Given the description of an element on the screen output the (x, y) to click on. 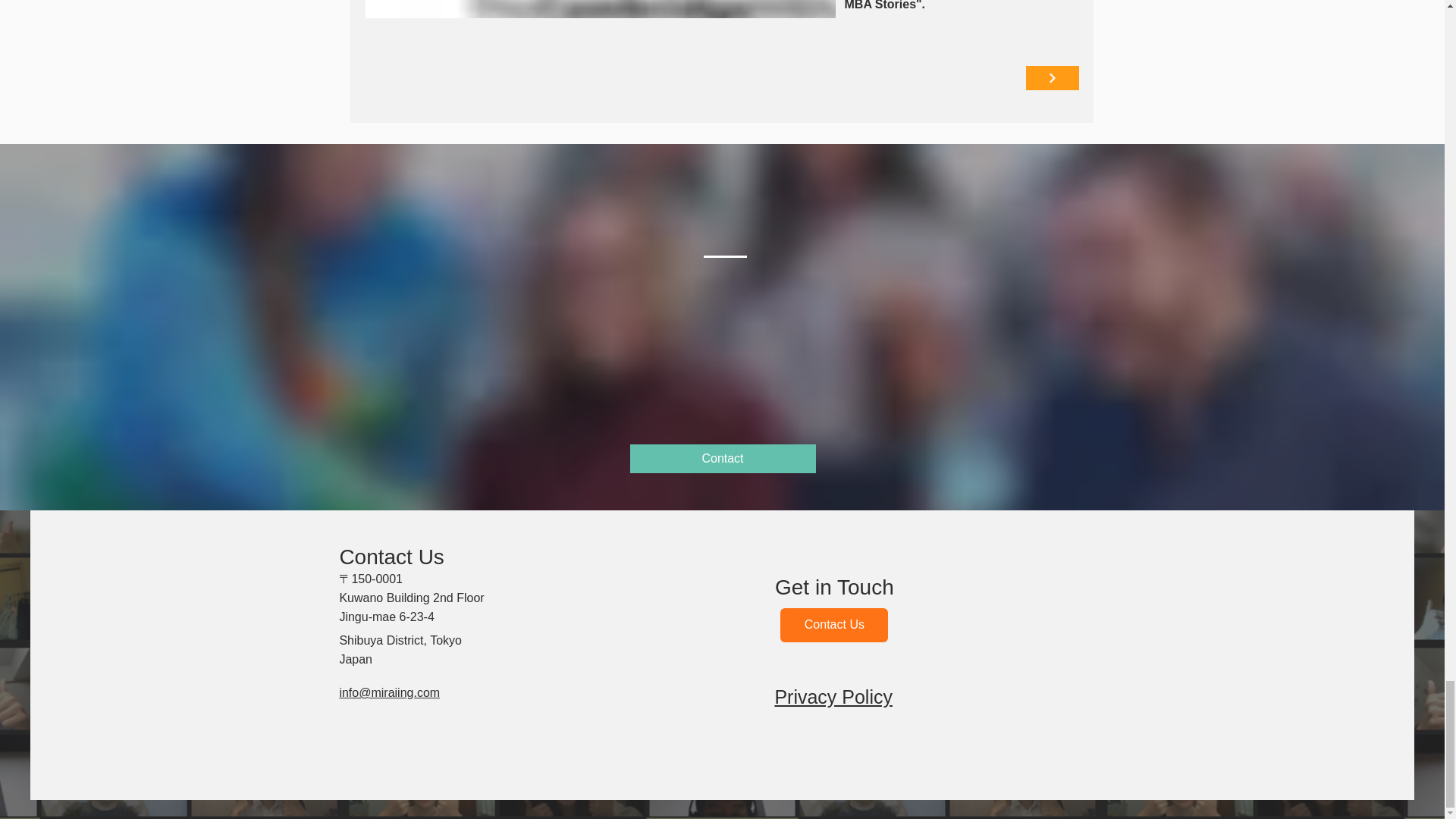
Contact (721, 458)
Privacy Policy (833, 697)
Contact Us (834, 625)
